Given the description of an element on the screen output the (x, y) to click on. 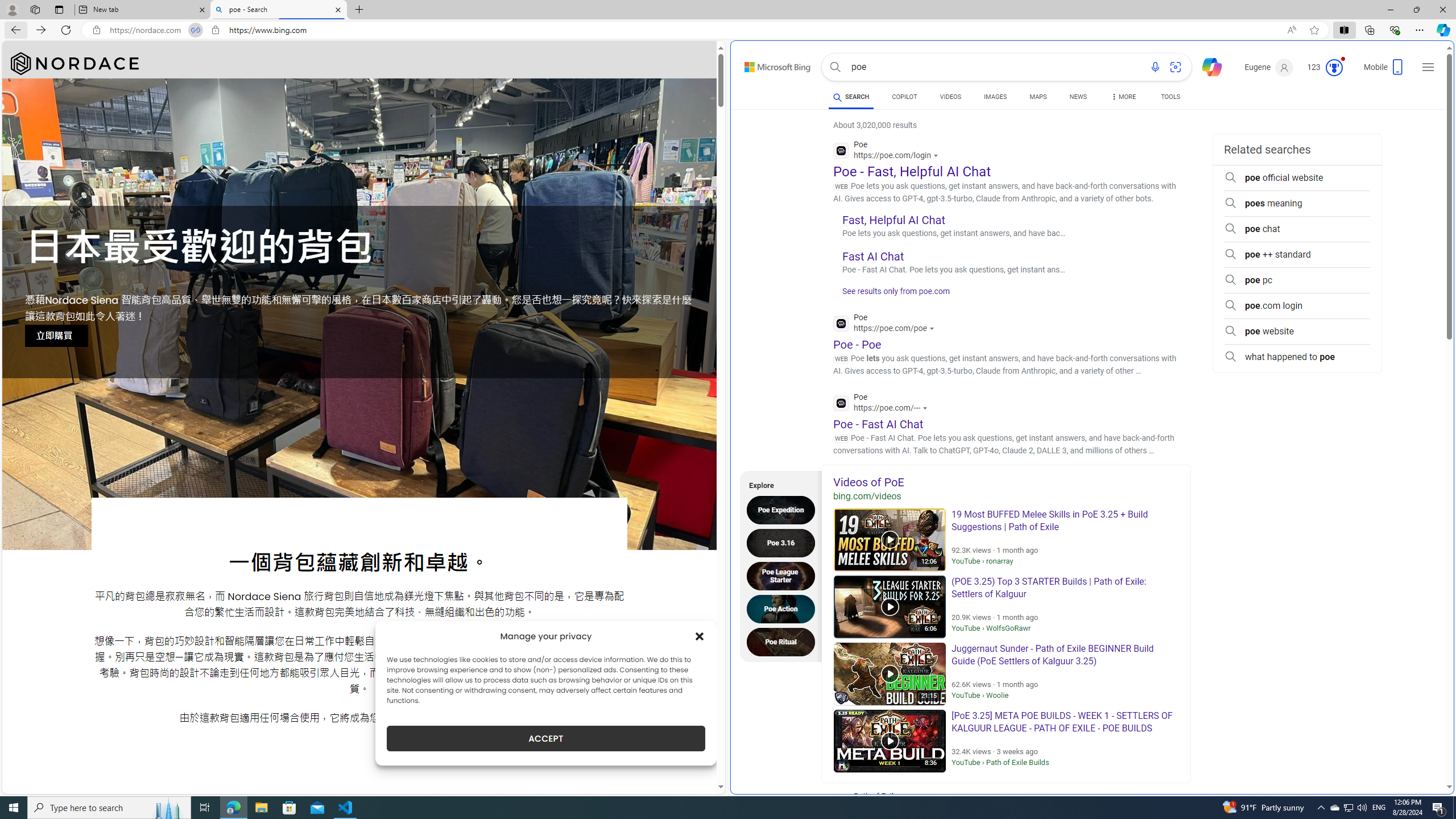
VIDEOS (950, 98)
poe chat (1297, 229)
what happened to poe (1297, 356)
Poe - Fast, Helpful AI Chat (911, 170)
poe ++ standard (1297, 254)
Back to Bing search (770, 64)
Fast, Helpful AI Chat (893, 219)
Poe Action (783, 608)
